Given the description of an element on the screen output the (x, y) to click on. 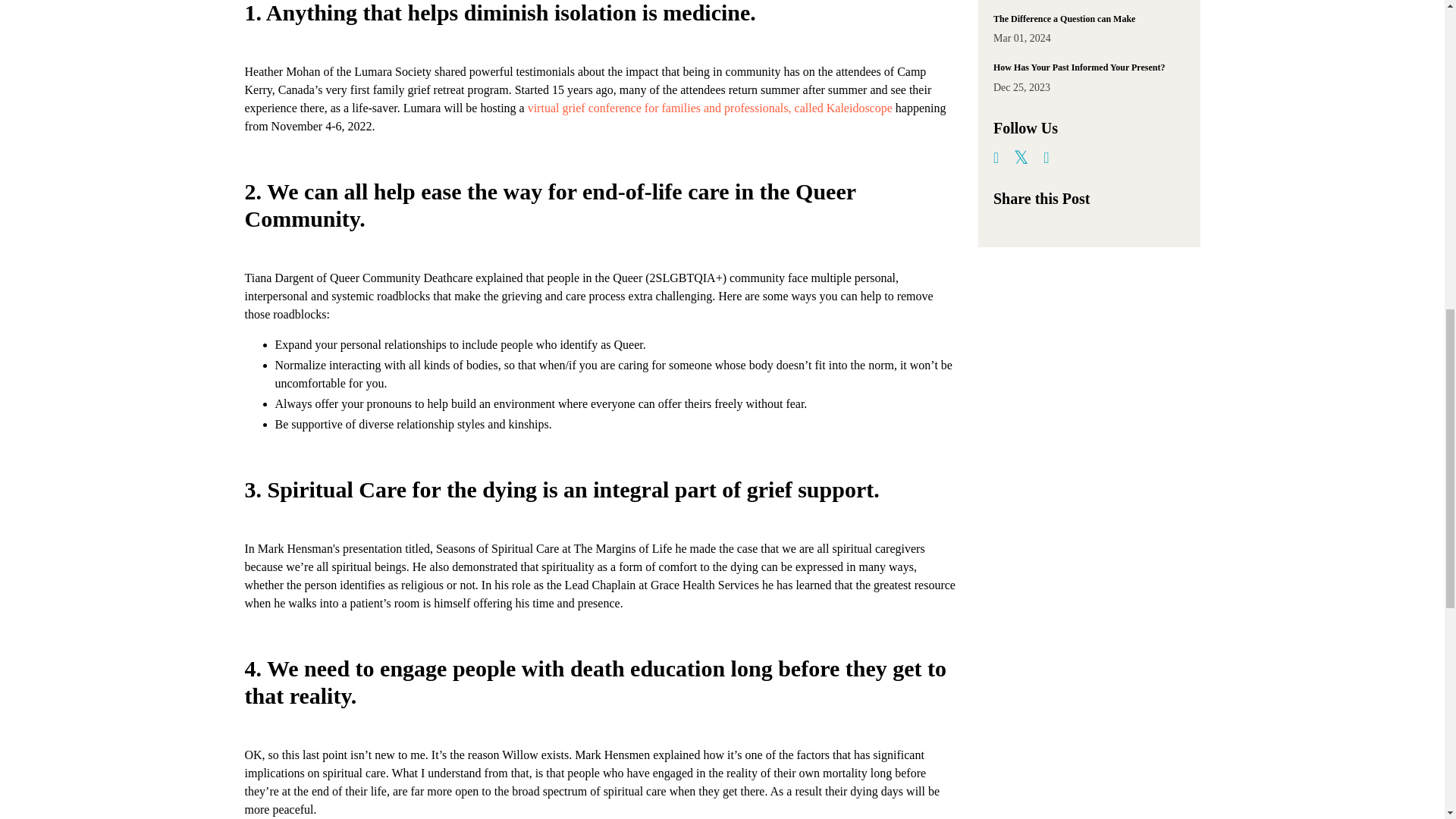
The Difference a Question can Make (1088, 18)
How Has Your Past Informed Your Present? (1088, 67)
